Given the description of an element on the screen output the (x, y) to click on. 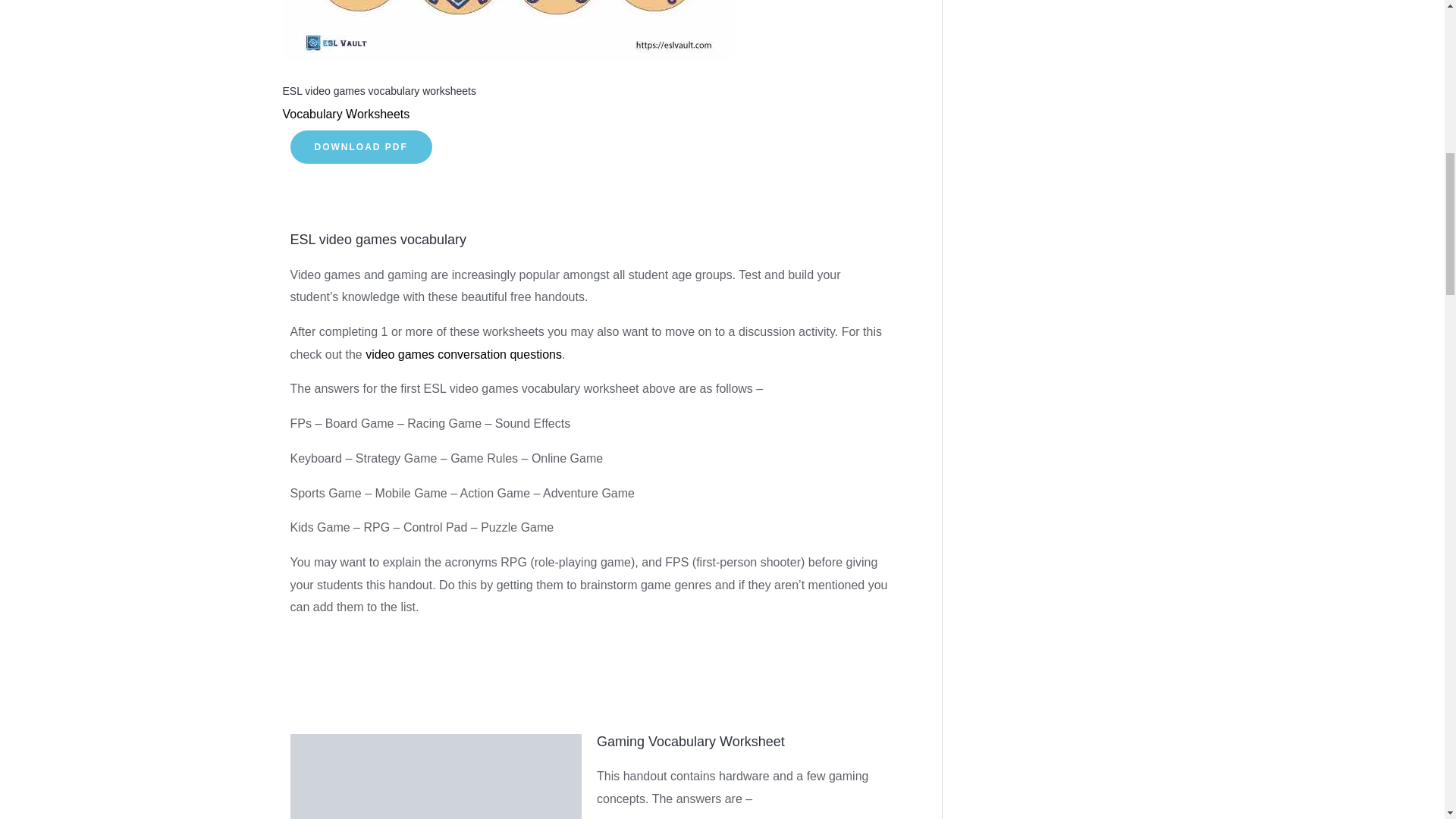
DOWNLOAD PDF (359, 146)
Vocabulary Worksheets (345, 113)
video games conversation questions (463, 354)
